Given the description of an element on the screen output the (x, y) to click on. 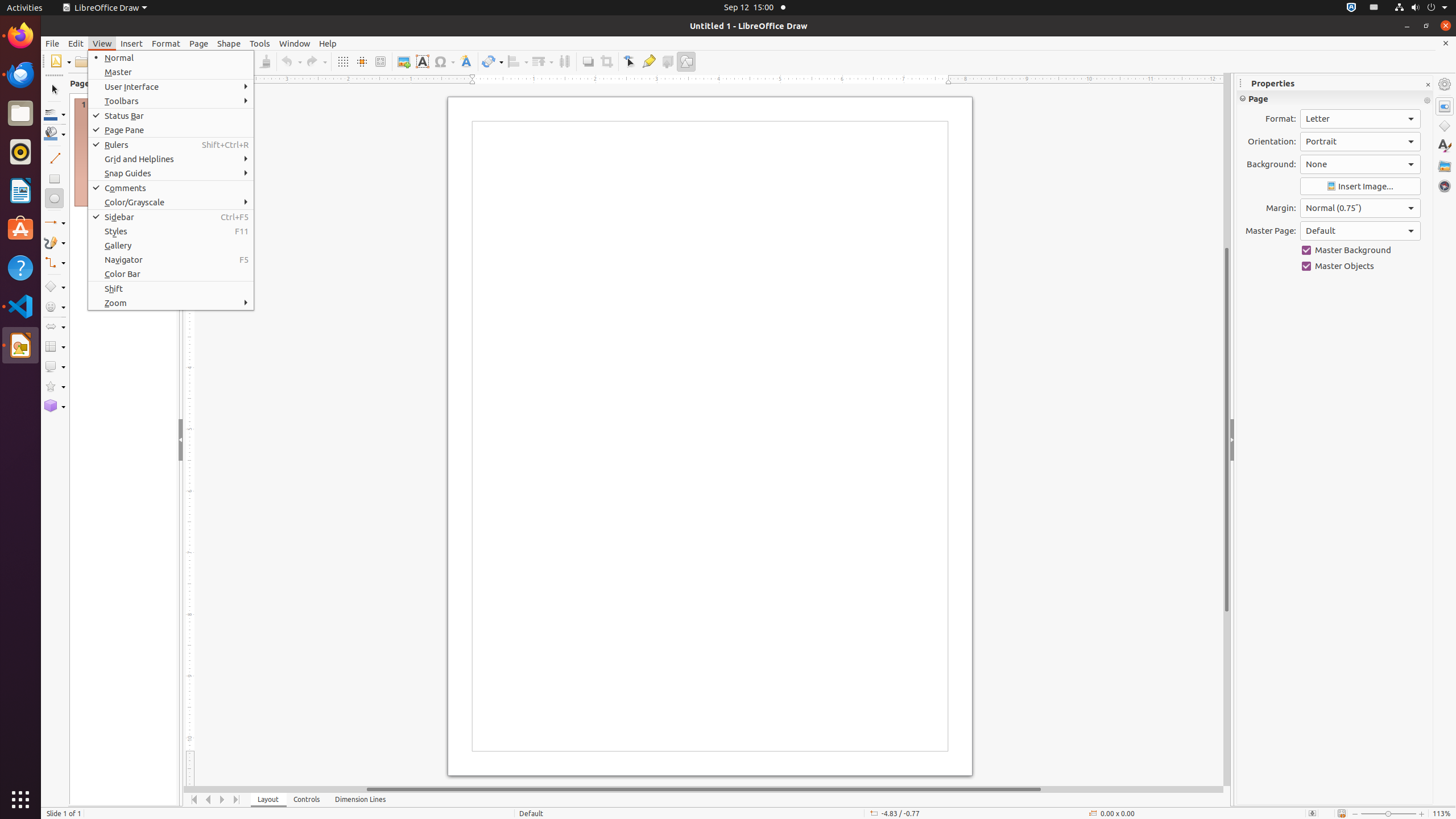
LibreOffice Draw Element type: menu (103, 7)
Move To End Element type: push-button (236, 799)
Move Left Element type: push-button (208, 799)
Format Element type: menu (165, 43)
Align Element type: push-button (517, 61)
